Given the description of an element on the screen output the (x, y) to click on. 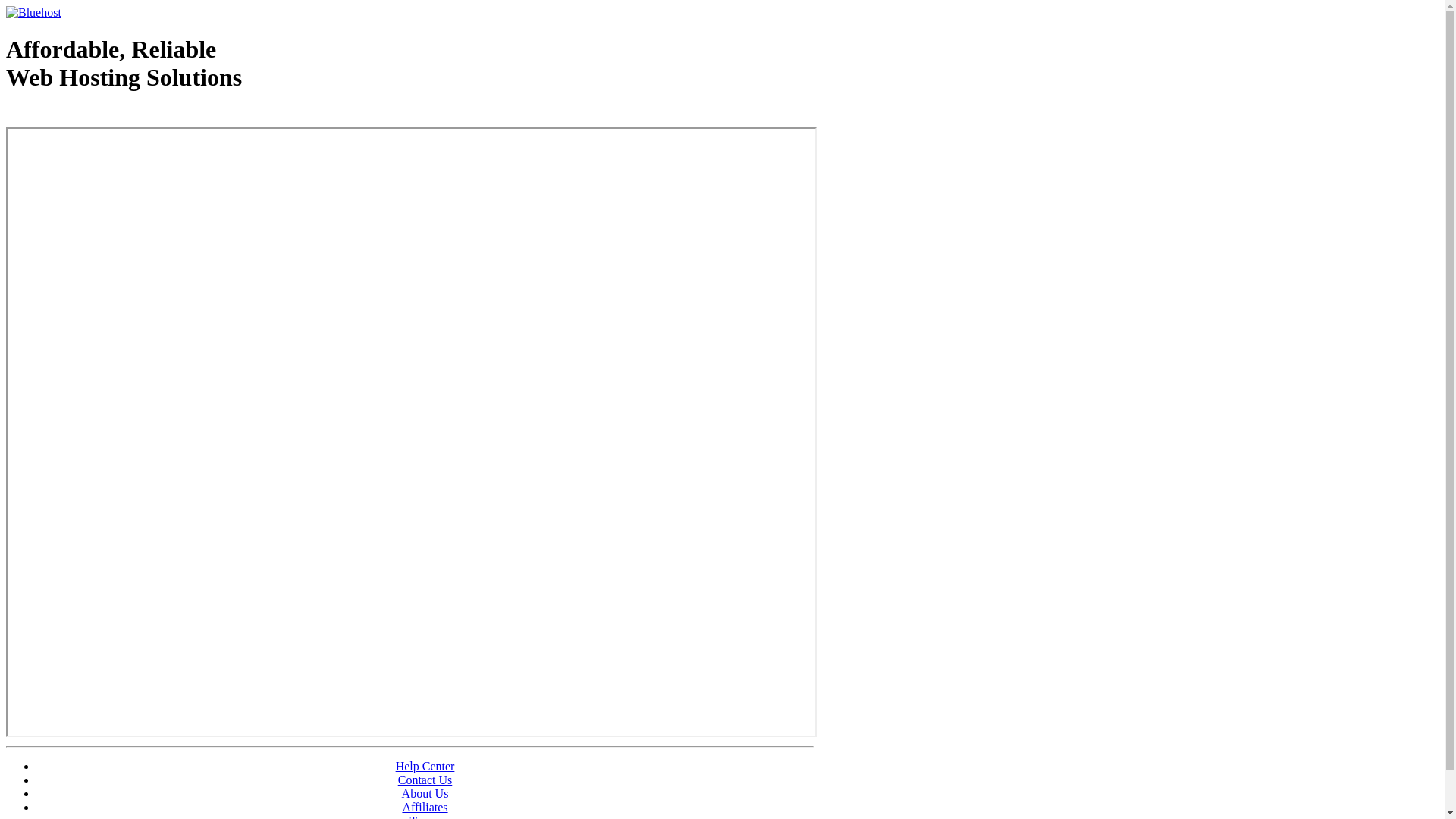
Affiliates Element type: text (424, 806)
Web Hosting - courtesy of www.bluehost.com Element type: text (94, 115)
About Us Element type: text (424, 793)
Help Center Element type: text (425, 765)
Contact Us Element type: text (425, 779)
